Given the description of an element on the screen output the (x, y) to click on. 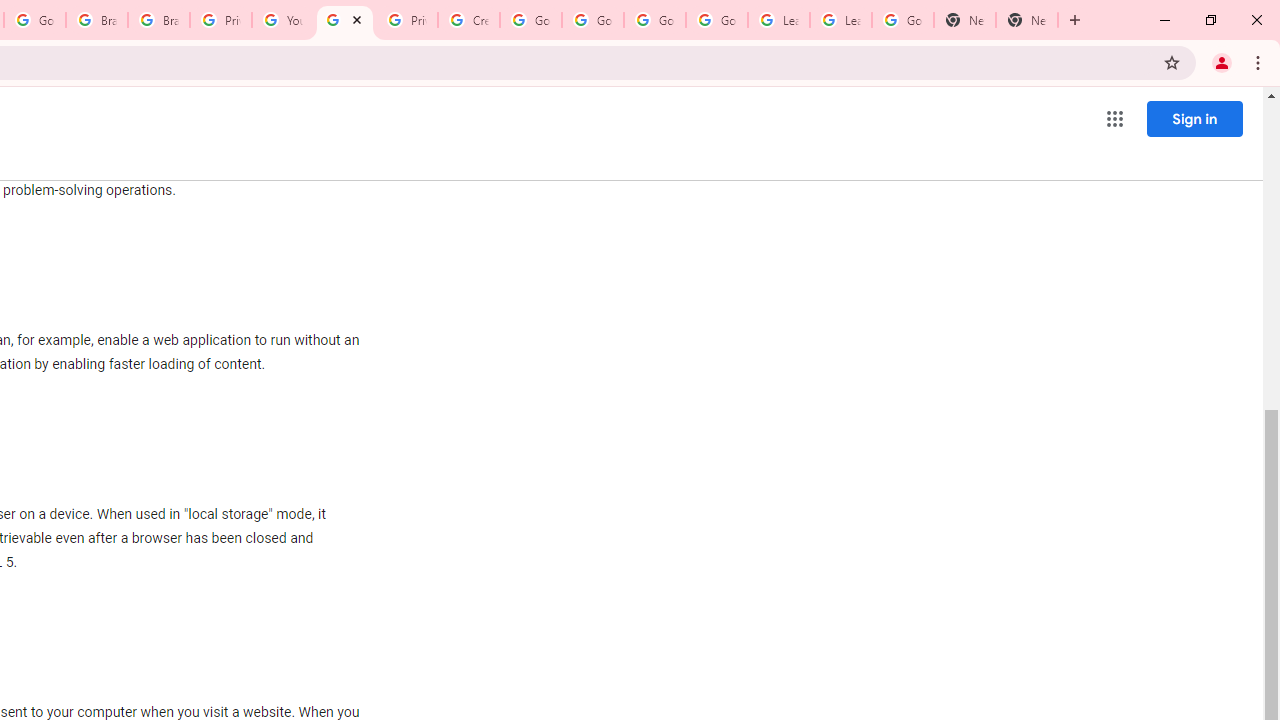
New Tab (1026, 20)
Google Account Help (530, 20)
Brand Resource Center (96, 20)
Create your Google Account (468, 20)
YouTube (282, 20)
